Given the description of an element on the screen output the (x, y) to click on. 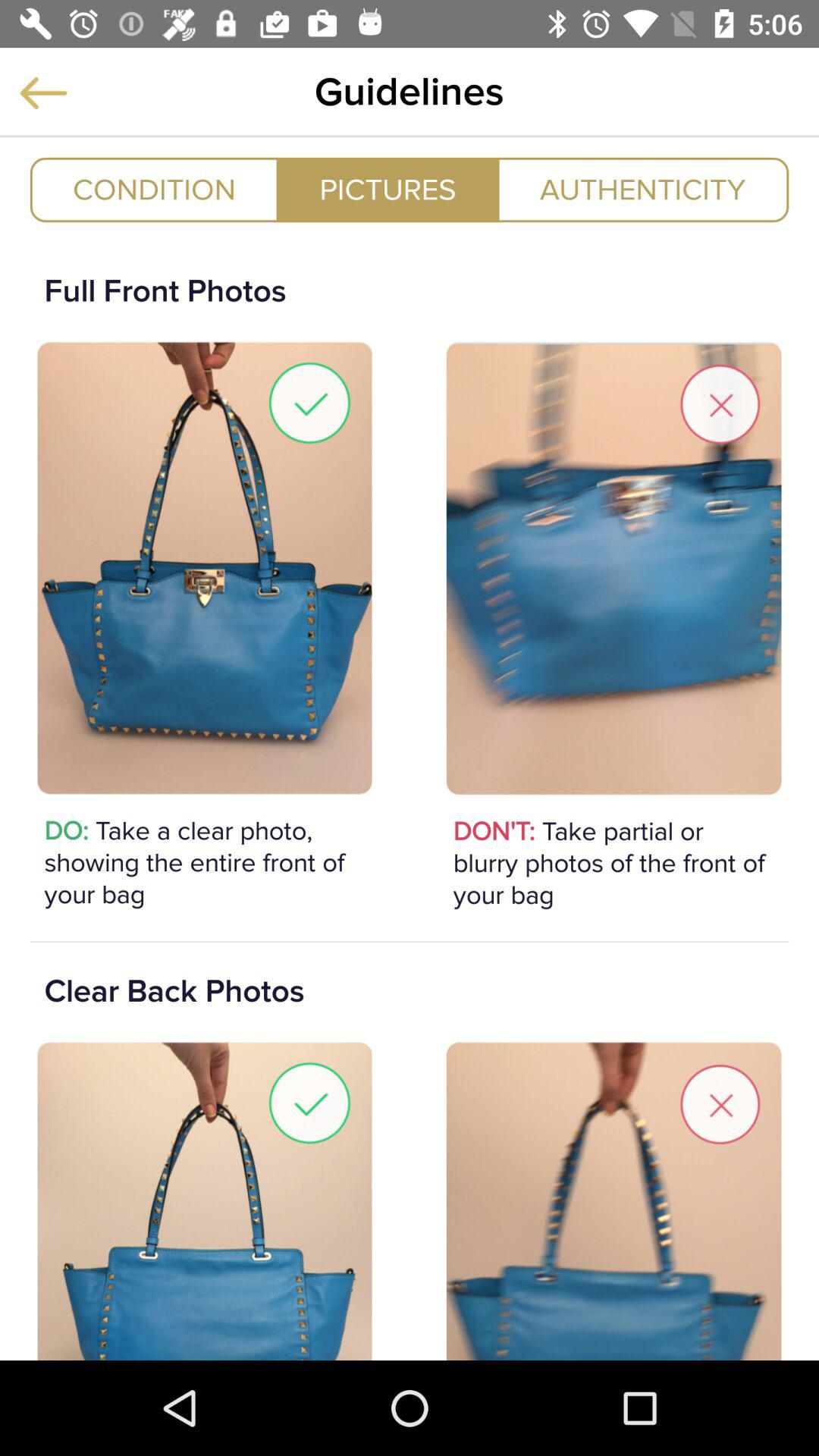
turn off authenticity (642, 189)
